Given the description of an element on the screen output the (x, y) to click on. 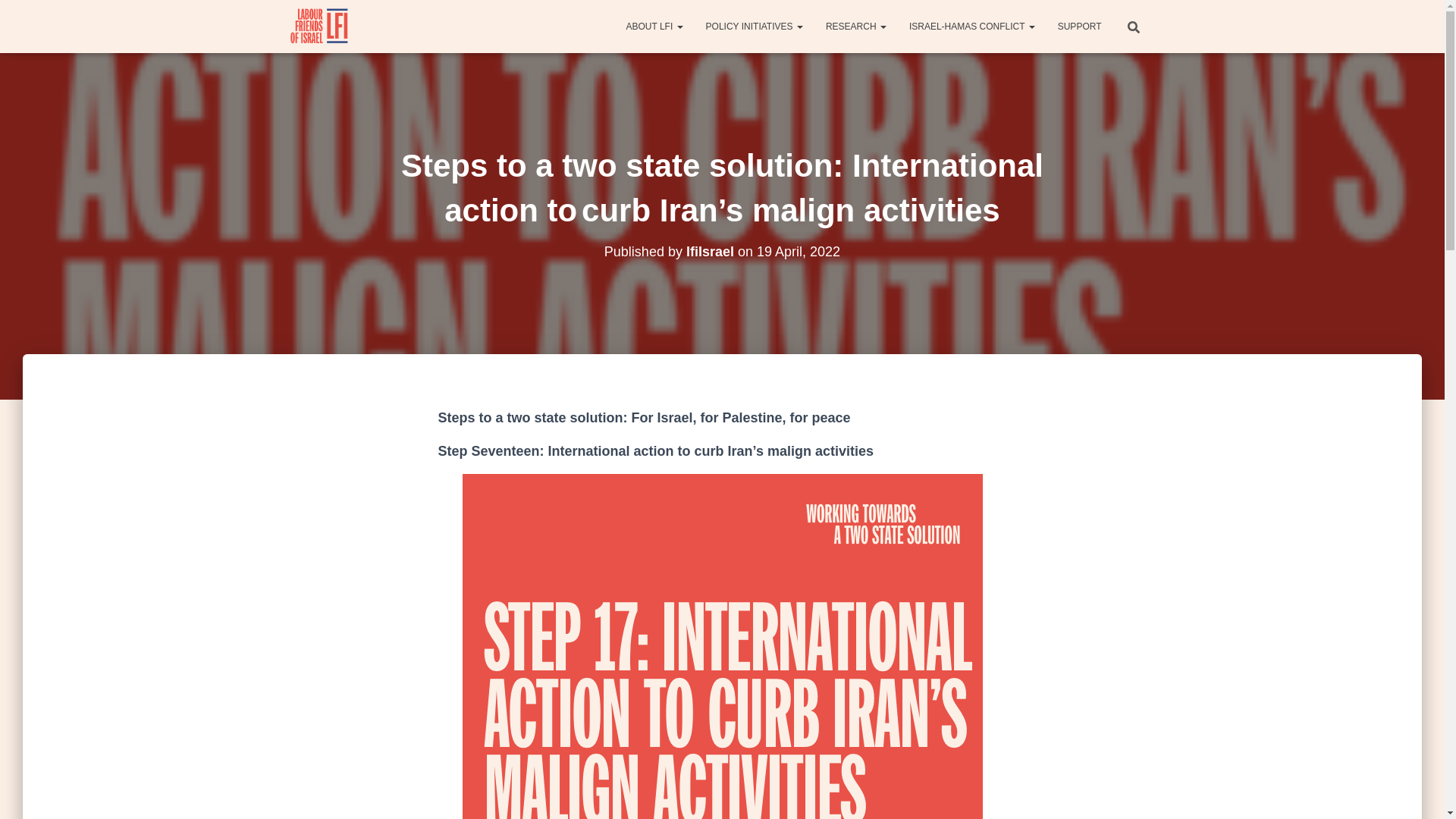
lfiIsrael (709, 251)
POLICY INITIATIVES (753, 26)
SUPPORT (1079, 26)
About LFI (654, 26)
Labour Friends of Israel (320, 26)
Research (855, 26)
RESEARCH (855, 26)
ISRAEL-HAMAS CONFLICT (972, 26)
Policy Initiatives (753, 26)
ABOUT LFI (654, 26)
